Given the description of an element on the screen output the (x, y) to click on. 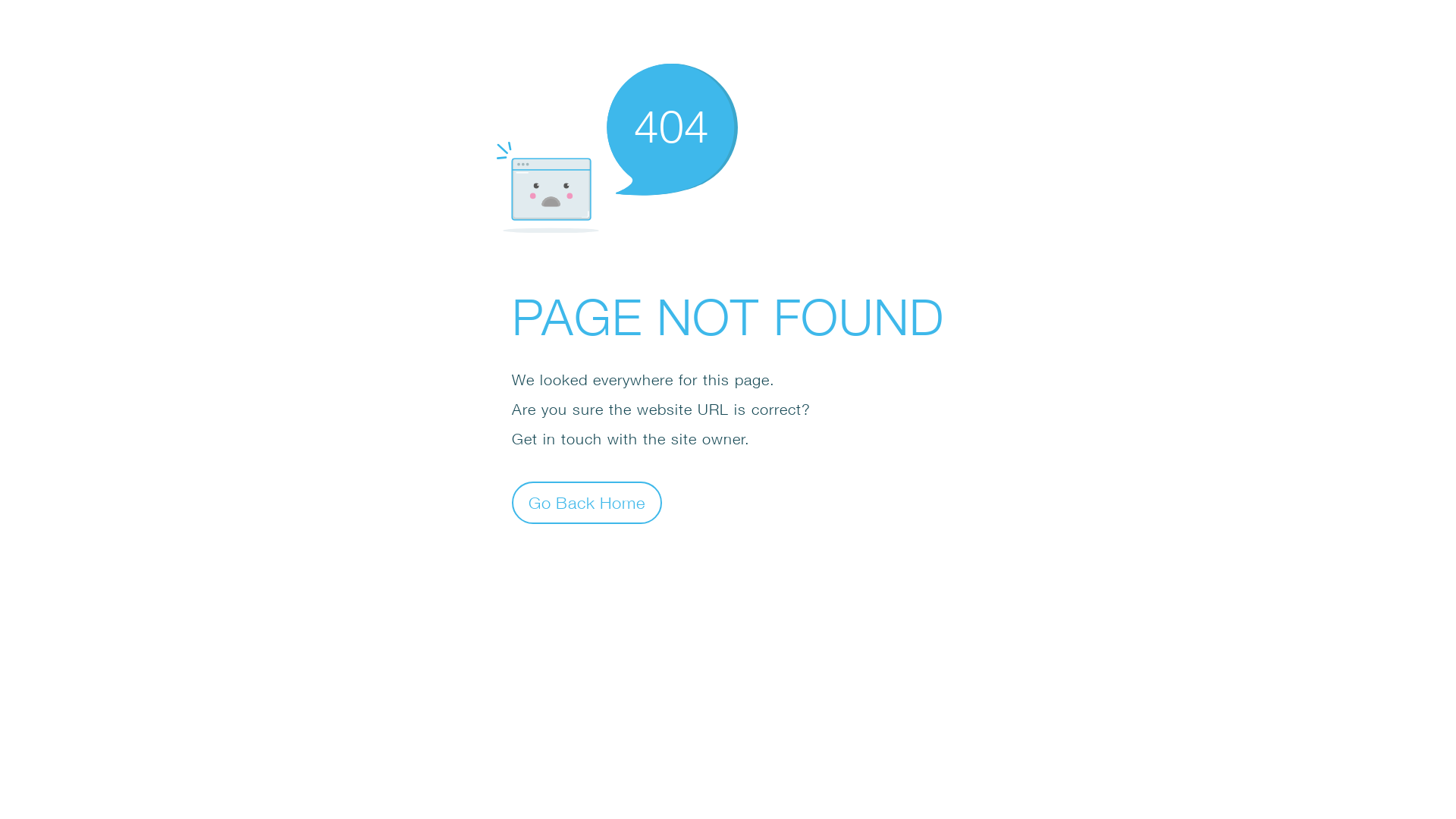
Go Back Home Element type: text (586, 502)
